Given the description of an element on the screen output the (x, y) to click on. 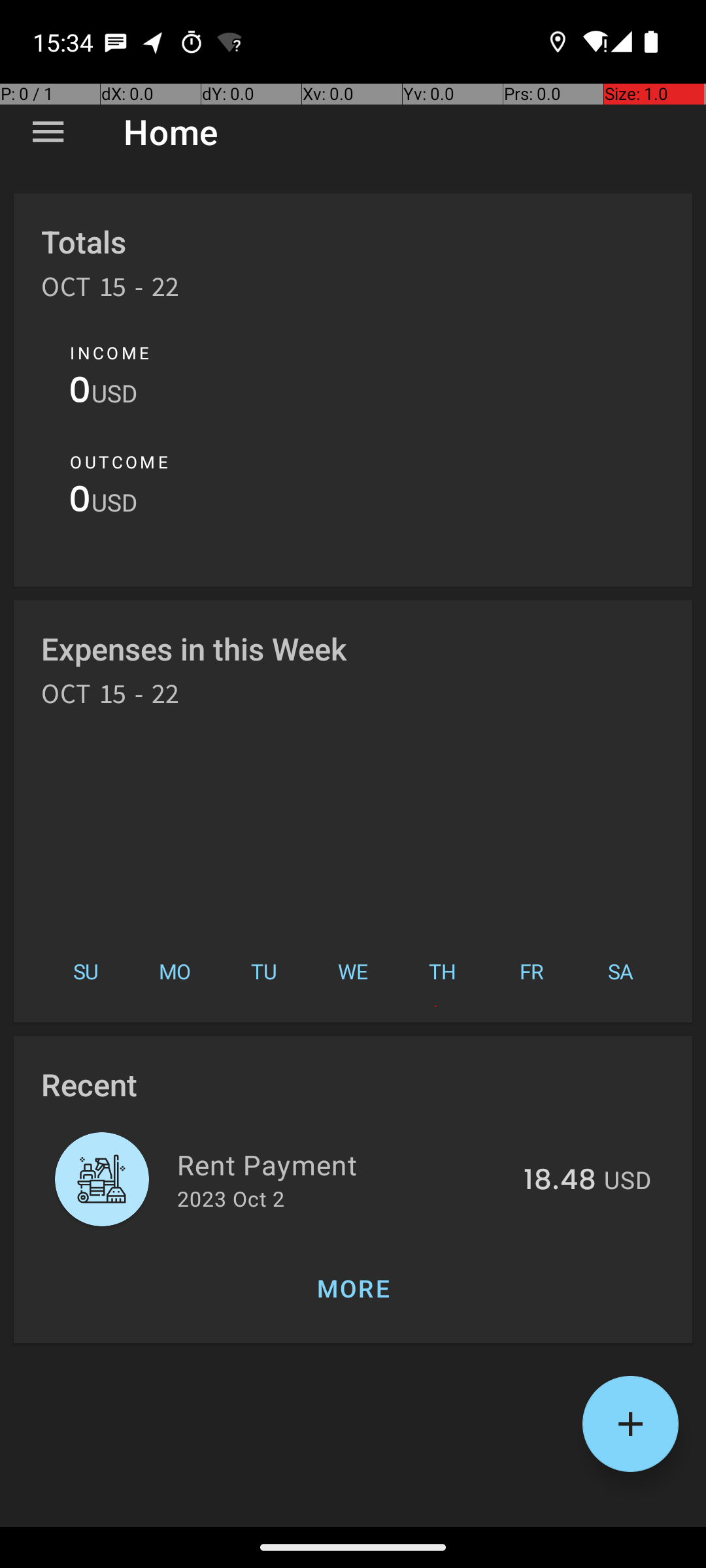
Rent Payment Element type: android.widget.TextView (342, 1164)
18.48 Element type: android.widget.TextView (559, 1180)
